Given the description of an element on the screen output the (x, y) to click on. 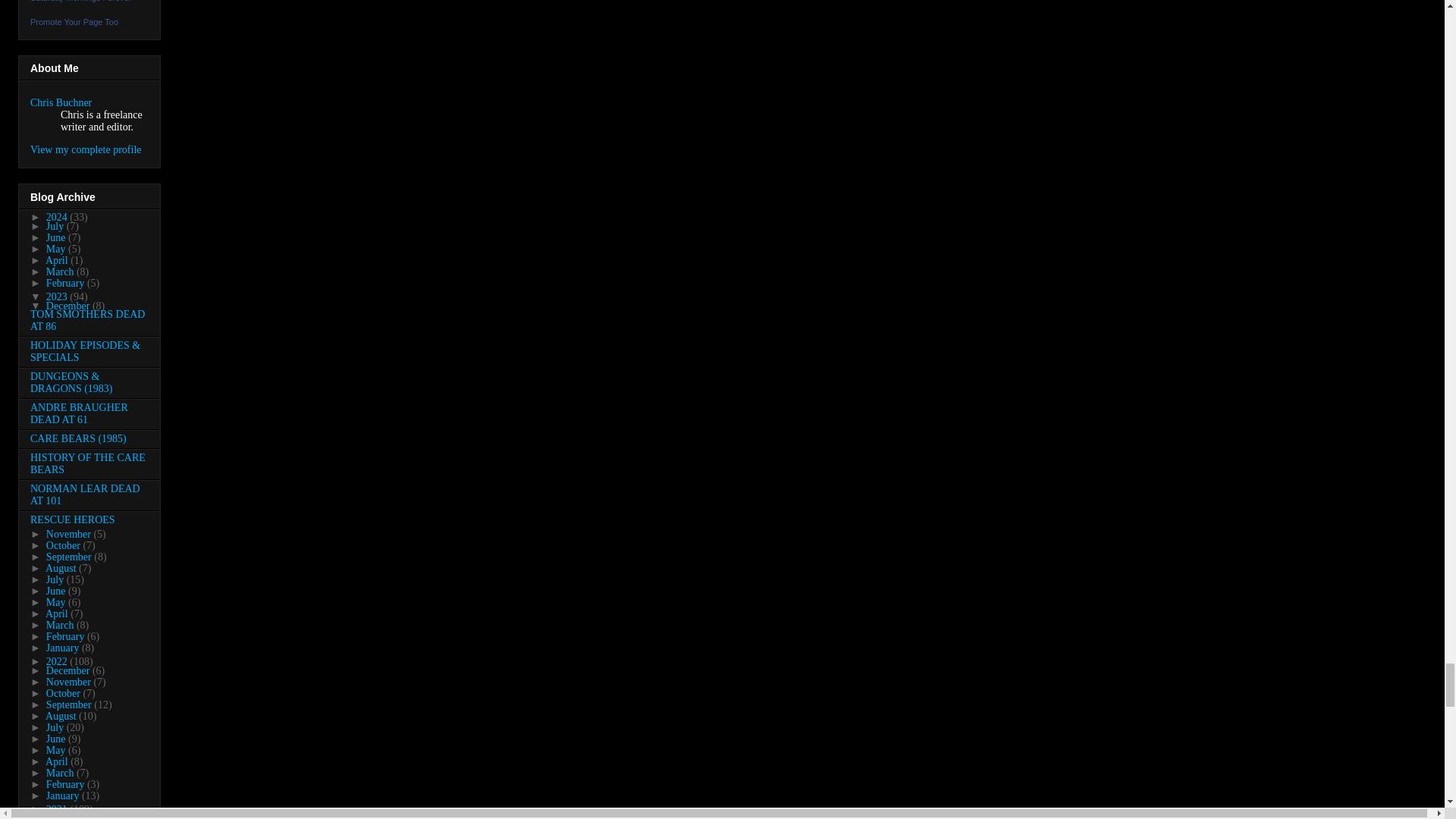
Saturday Mornings Forever (80, 1)
Make your own badge! (73, 21)
